Given the description of an element on the screen output the (x, y) to click on. 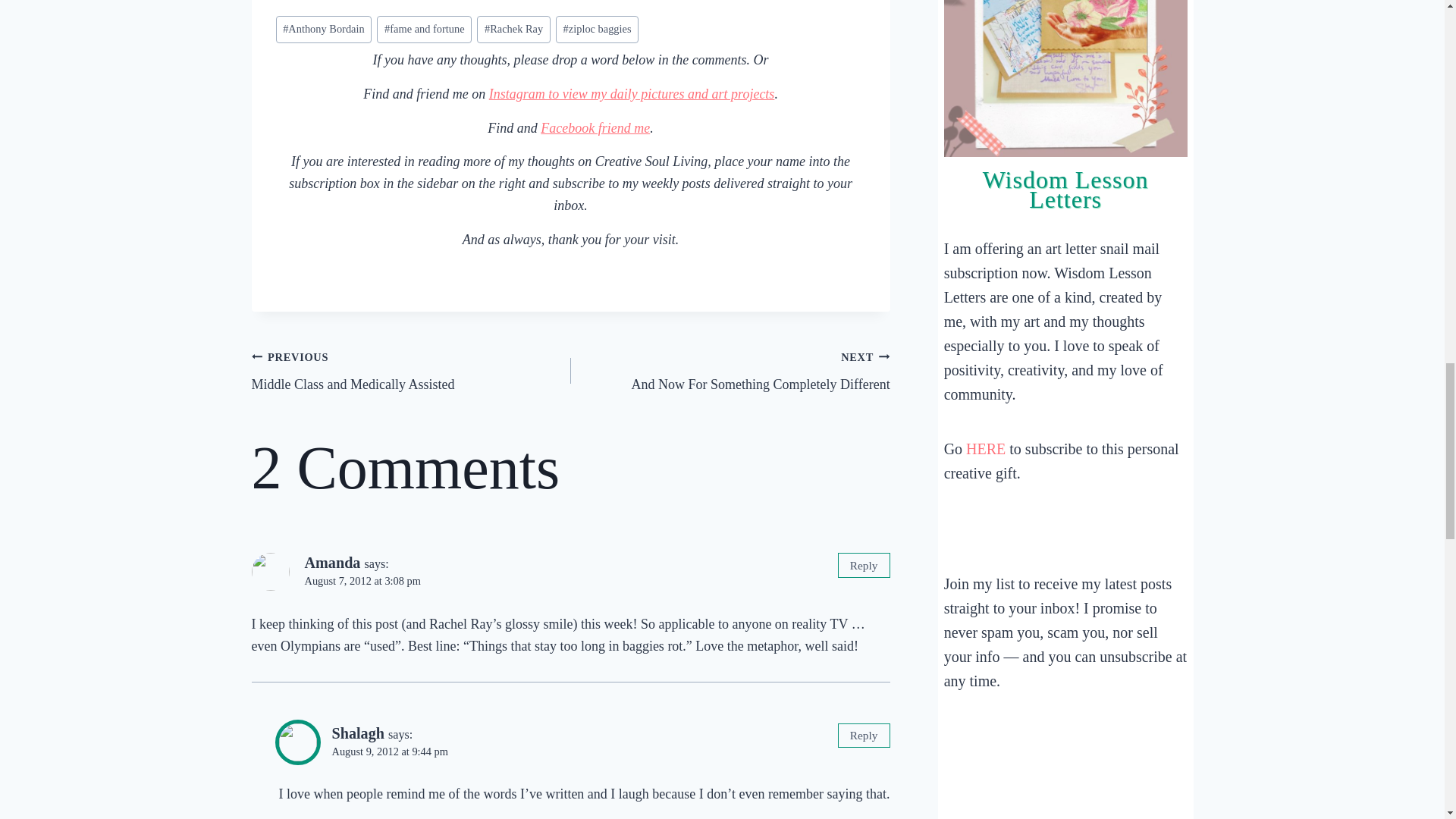
fame and fortune (424, 29)
Amanda (332, 562)
Facebook friend me (594, 127)
August 7, 2012 at 3:08 pm (363, 580)
Reply (863, 565)
Rachek Ray (729, 370)
Instagram to view my daily pictures and art projects (513, 29)
ziploc baggies (410, 370)
Anthony Bordain (631, 93)
